Given the description of an element on the screen output the (x, y) to click on. 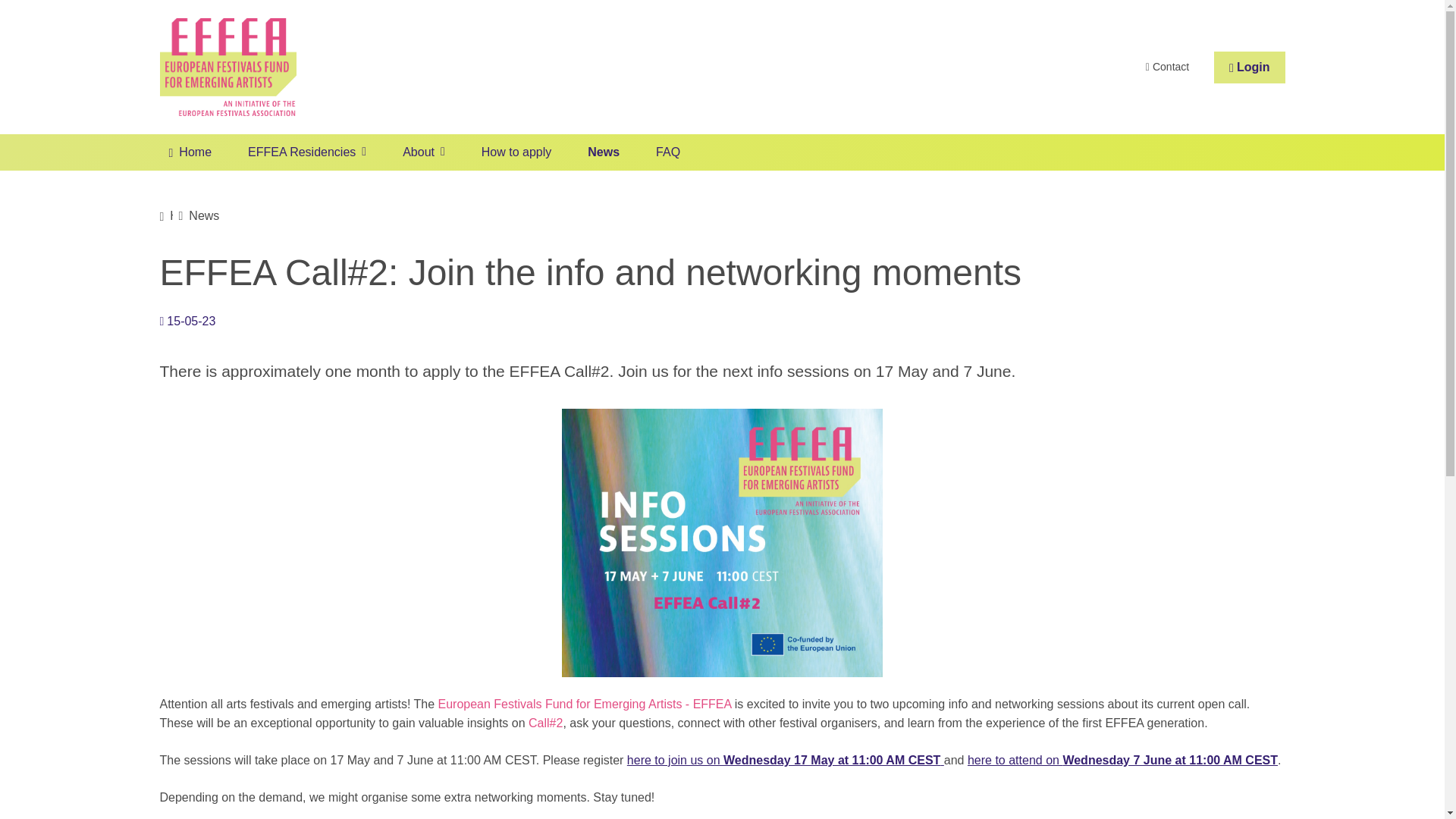
News (204, 215)
EFFEA Residencies (307, 152)
News (603, 152)
How to apply (516, 152)
FAQ (667, 152)
here to attend on Wednesday 7 June at 11:00 AM CEST (1123, 759)
Contact (1167, 67)
About (423, 152)
Home (189, 152)
Back to Home (226, 67)
